Given the description of an element on the screen output the (x, y) to click on. 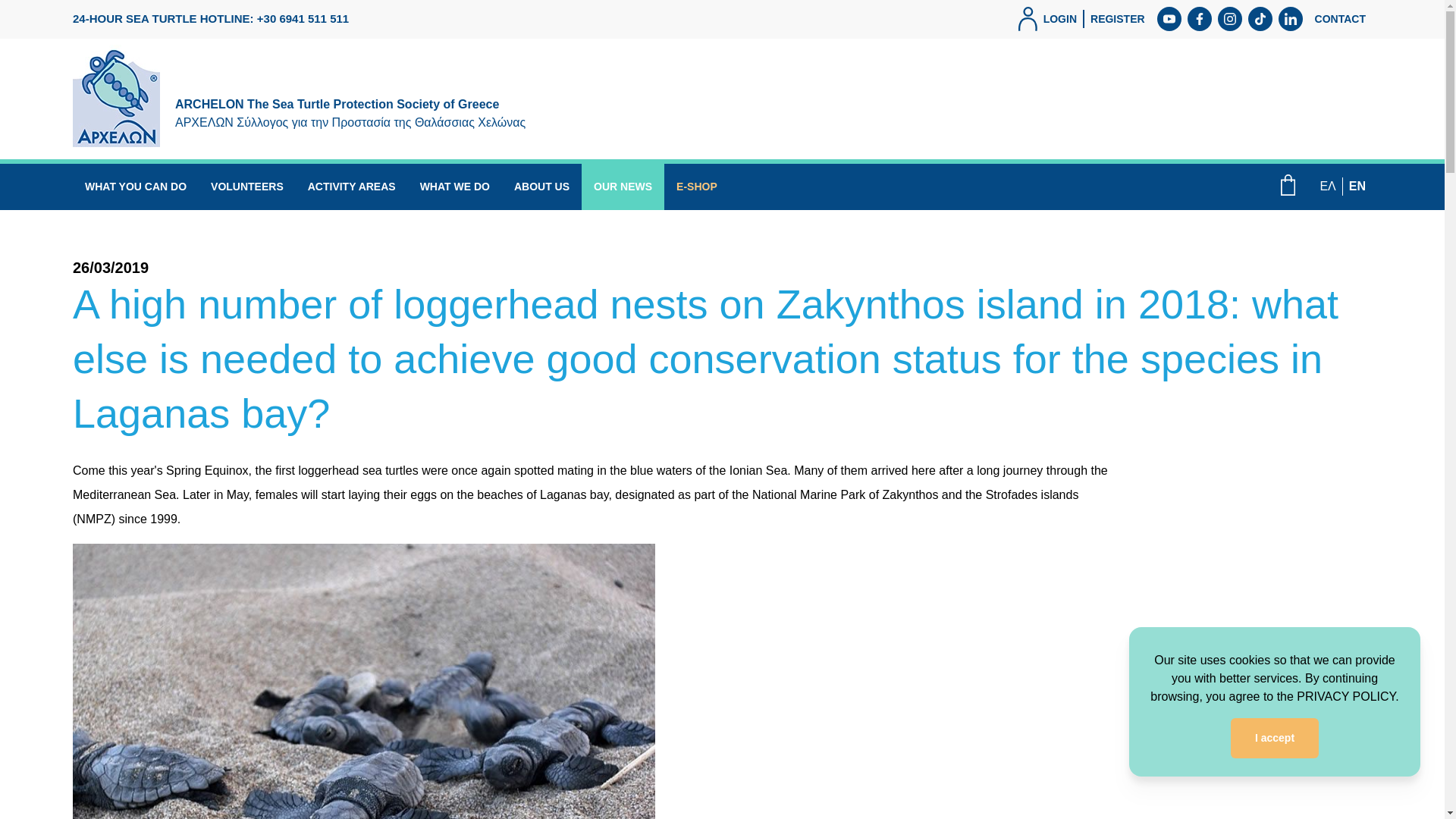
Follow us on Youtube (1168, 18)
Follow us on TikTok (1259, 18)
Follow us on Instagram (1229, 18)
REGISTER (1117, 18)
WHAT WE DO (454, 186)
ABOUT US (541, 186)
LOGIN (1047, 18)
Follow us on Facebook (1199, 18)
ARCHELON (306, 96)
VOLUNTEERS (246, 186)
